Given the description of an element on the screen output the (x, y) to click on. 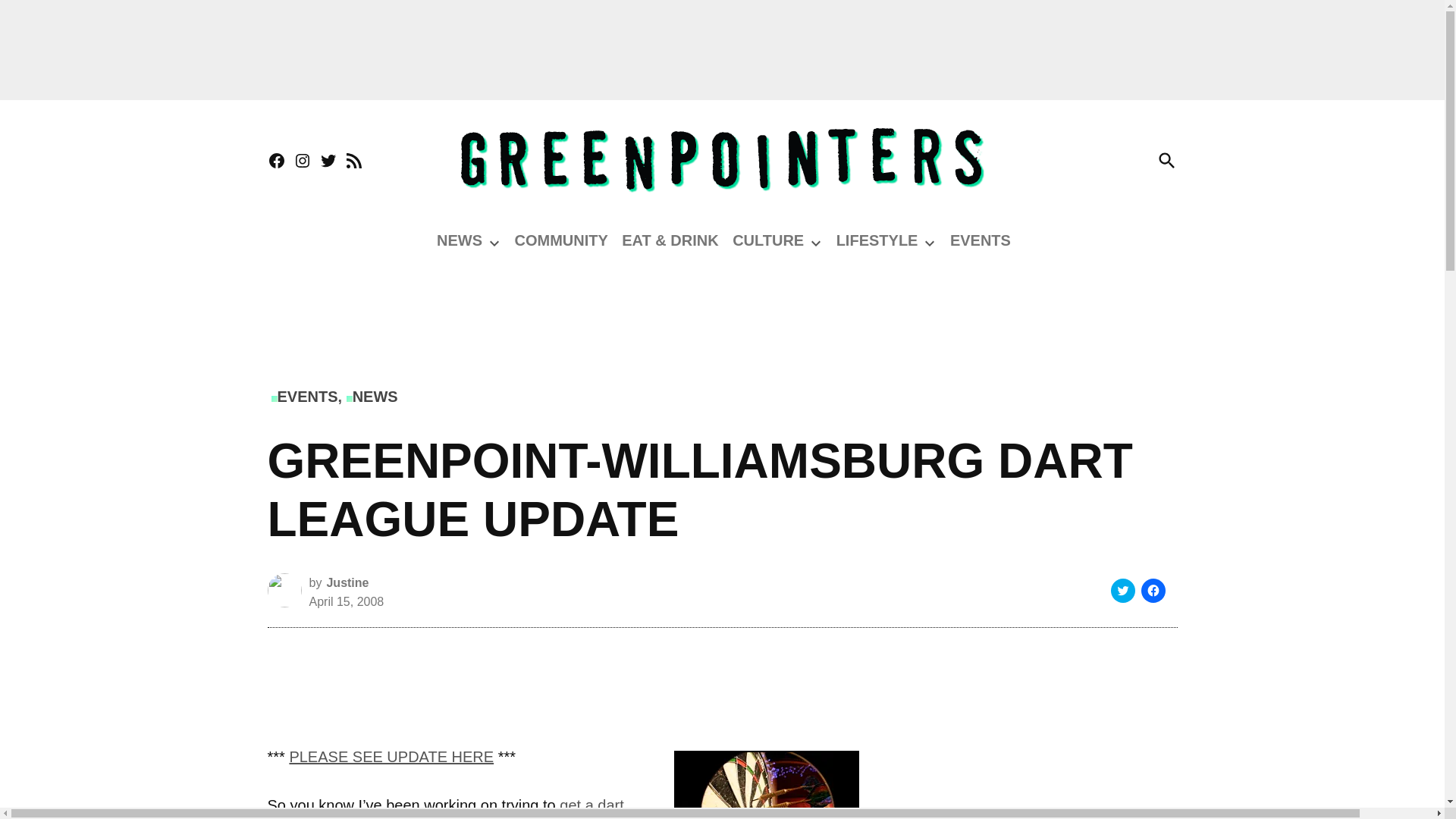
CULTURE (767, 240)
Click to share on Twitter (1121, 590)
Greenpointers (1255, 170)
INSTAGRAM (301, 160)
Open dropdown menu (493, 243)
COMMUNITY (560, 240)
NEWS (458, 240)
TWITTER (327, 160)
FACEBOOK (275, 160)
Click to share on Facebook (1152, 590)
